Given the description of an element on the screen output the (x, y) to click on. 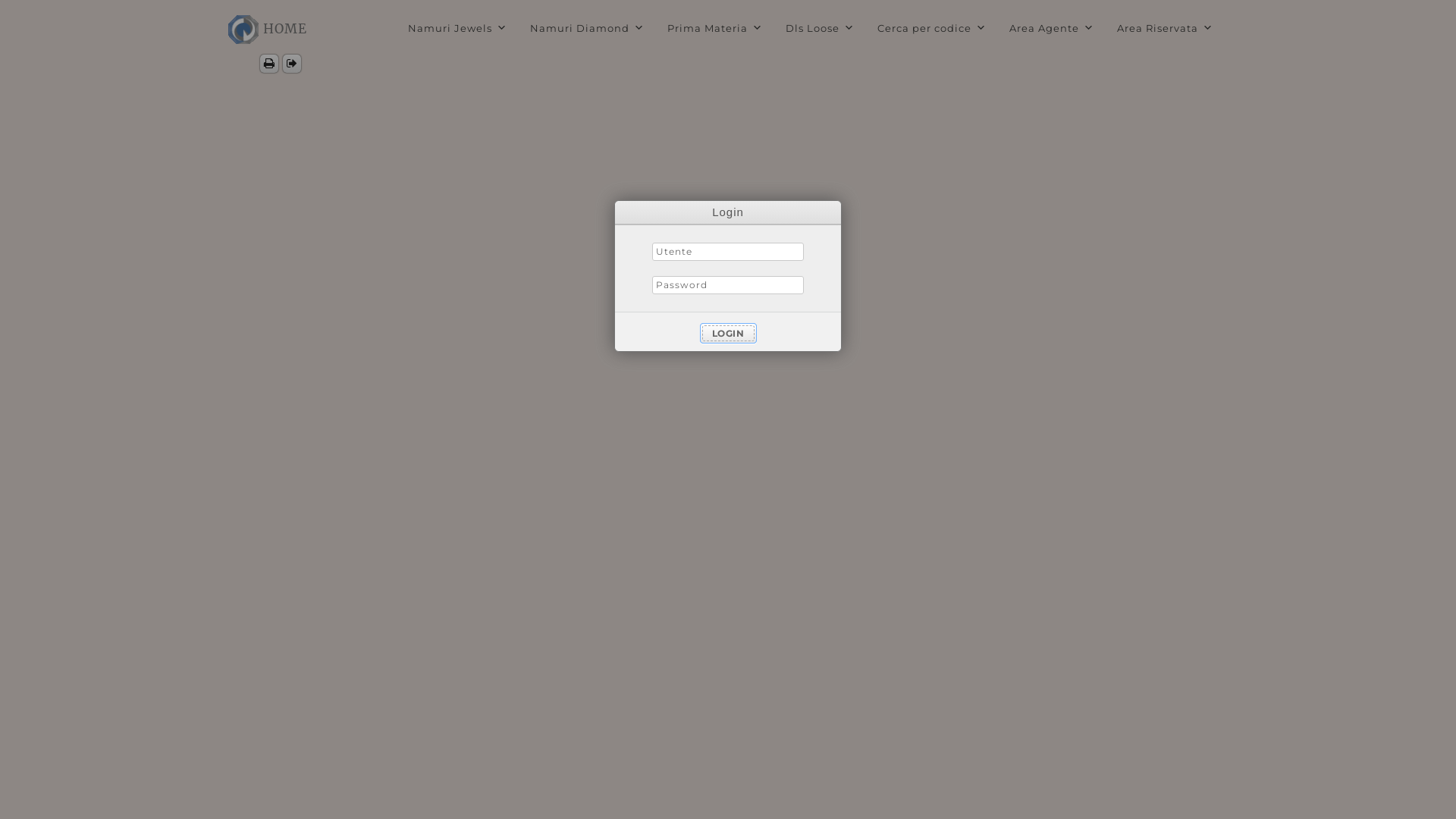
Area Agente Element type: text (1051, 27)
LOGIN Element type: text (727, 333)
HOME Element type: text (285, 29)
Cerca per codice Element type: text (931, 27)
Namuri Jewels Element type: text (457, 27)
Dls Loose Element type: text (820, 27)
Area Riservata Element type: text (1164, 27)
Namuri Diamond Element type: text (587, 27)
Prima Materia Element type: text (714, 27)
